Given the description of an element on the screen output the (x, y) to click on. 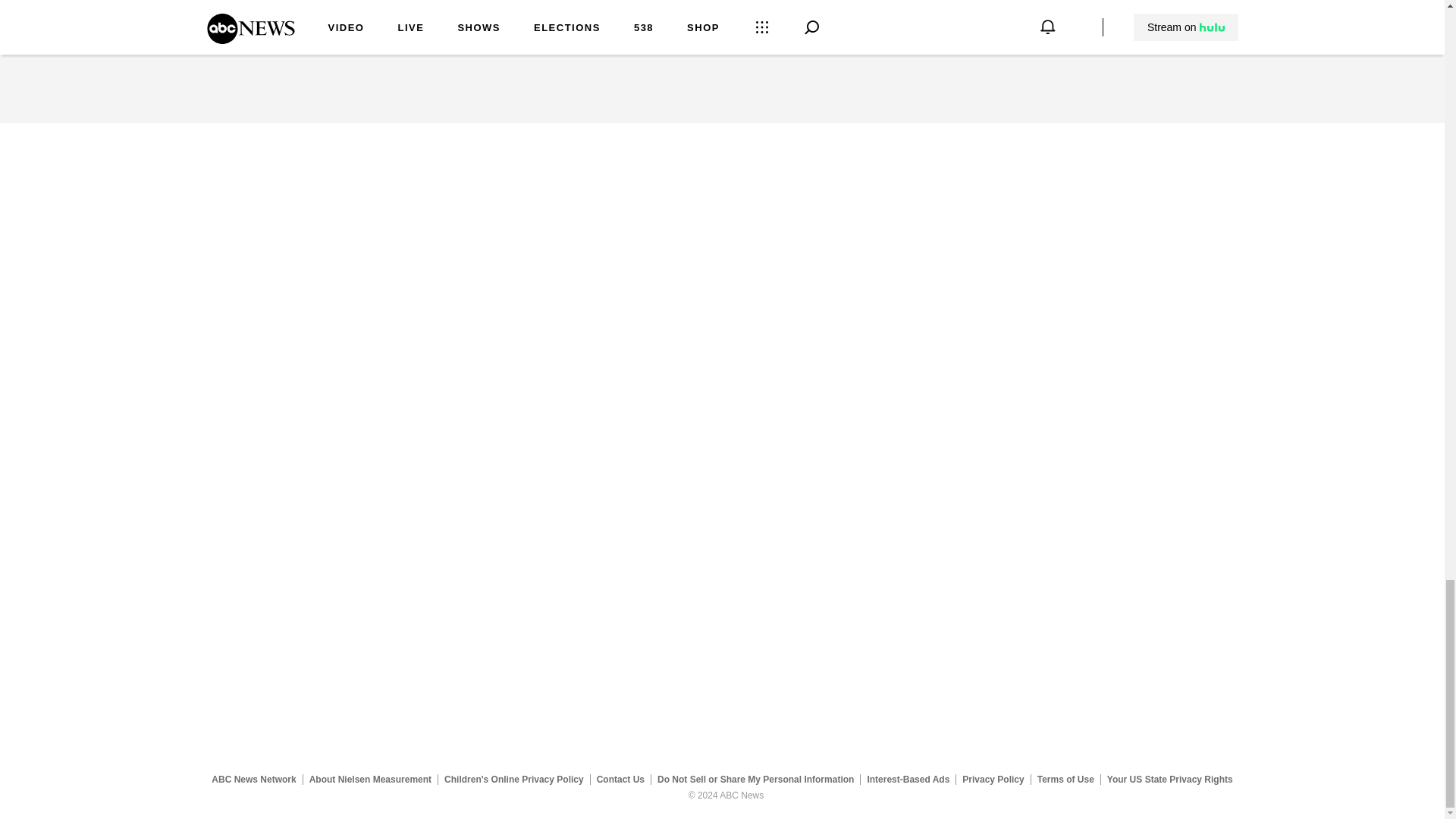
Do Not Sell or Share My Personal Information (755, 778)
Privacy Policy (993, 778)
Interest-Based Ads (908, 778)
Your US State Privacy Rights (1169, 778)
ABC News Network (253, 778)
Terms of Use (1065, 778)
About Nielsen Measurement (370, 778)
Children's Online Privacy Policy (514, 778)
Contact Us (620, 778)
